Given the description of an element on the screen output the (x, y) to click on. 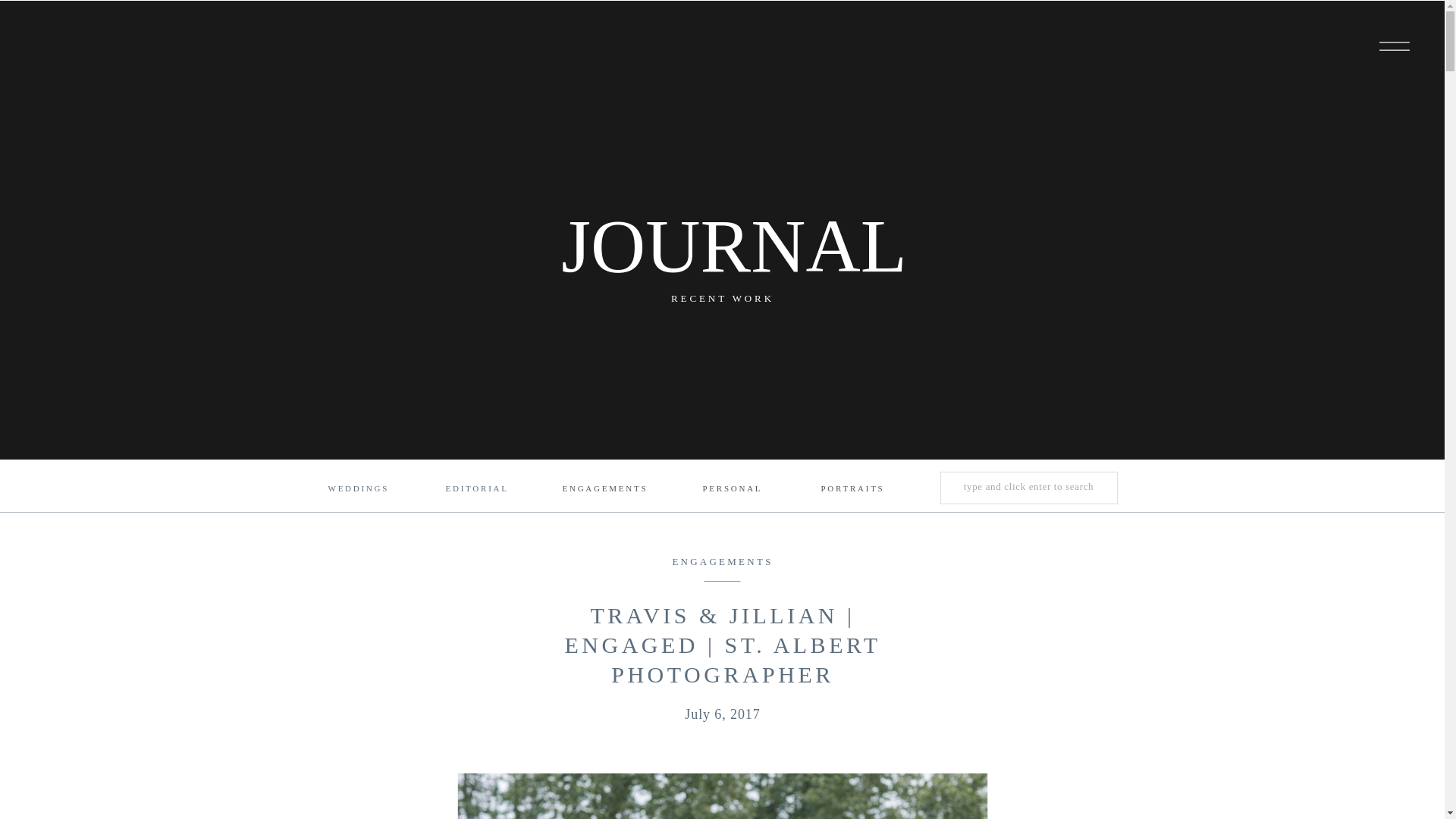
ENGAGEMENTS (604, 489)
PERSONAL (730, 489)
PORTRAITS (849, 489)
EDITORIAL (475, 489)
ENGAGEMENTS (722, 561)
WEDDINGS (357, 489)
